Given the description of an element on the screen output the (x, y) to click on. 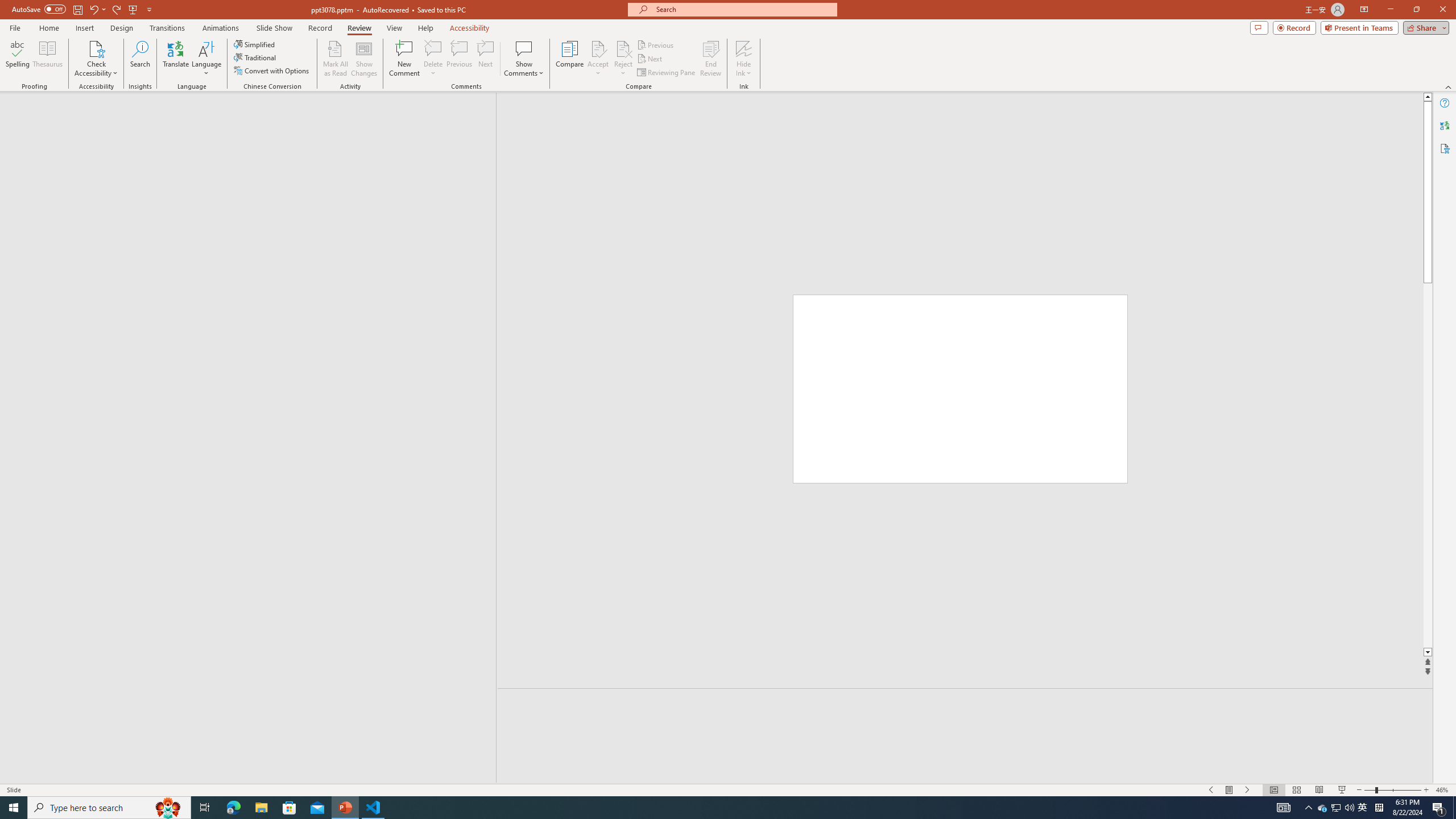
Show Changes (363, 58)
Thesaurus... (47, 58)
Language (206, 58)
